Given the description of an element on the screen output the (x, y) to click on. 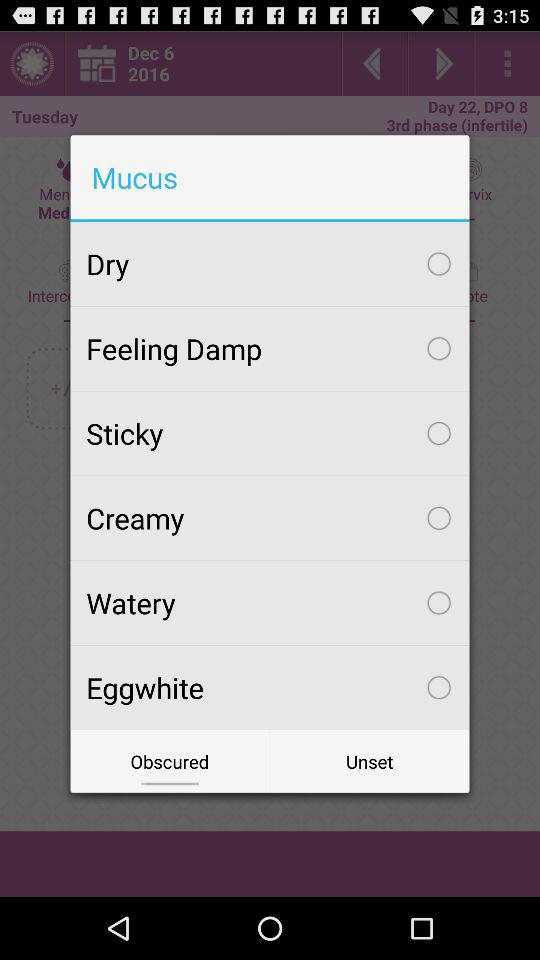
click checkbox below creamy icon (269, 603)
